Given the description of an element on the screen output the (x, y) to click on. 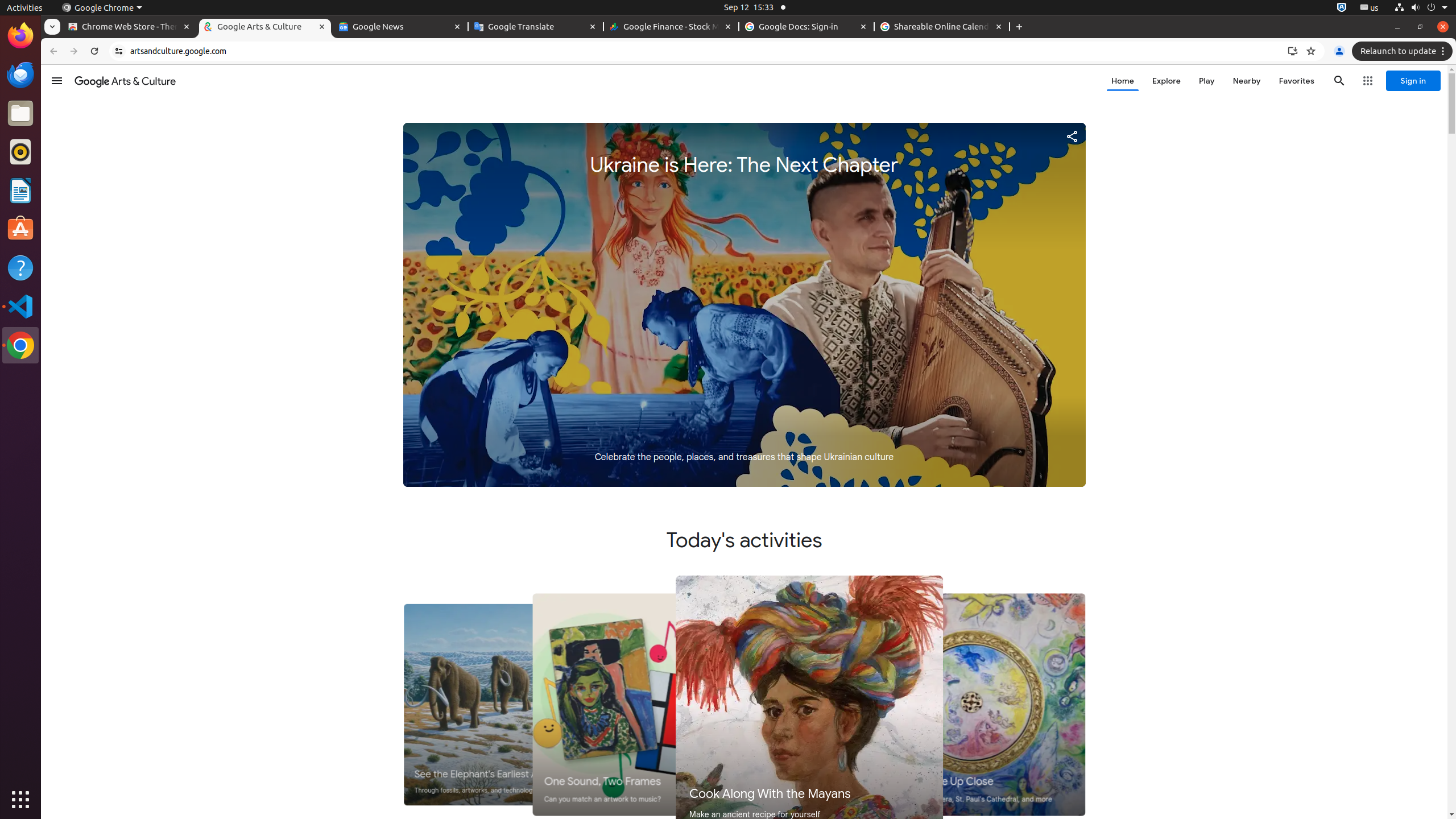
Shareable Online Calendar and Scheduling - Google Calendar - Memory usage - 88.5 MB Element type: page-tab (941, 26)
Files Element type: push-button (20, 113)
9 Ceilings To See Up Close Look up in the Paris Opera, St. Paul's Cathedral, and more Element type: link (970, 704)
Thunderbird Mail Element type: push-button (20, 74)
Home Element type: link (1122, 80)
